Given the description of an element on the screen output the (x, y) to click on. 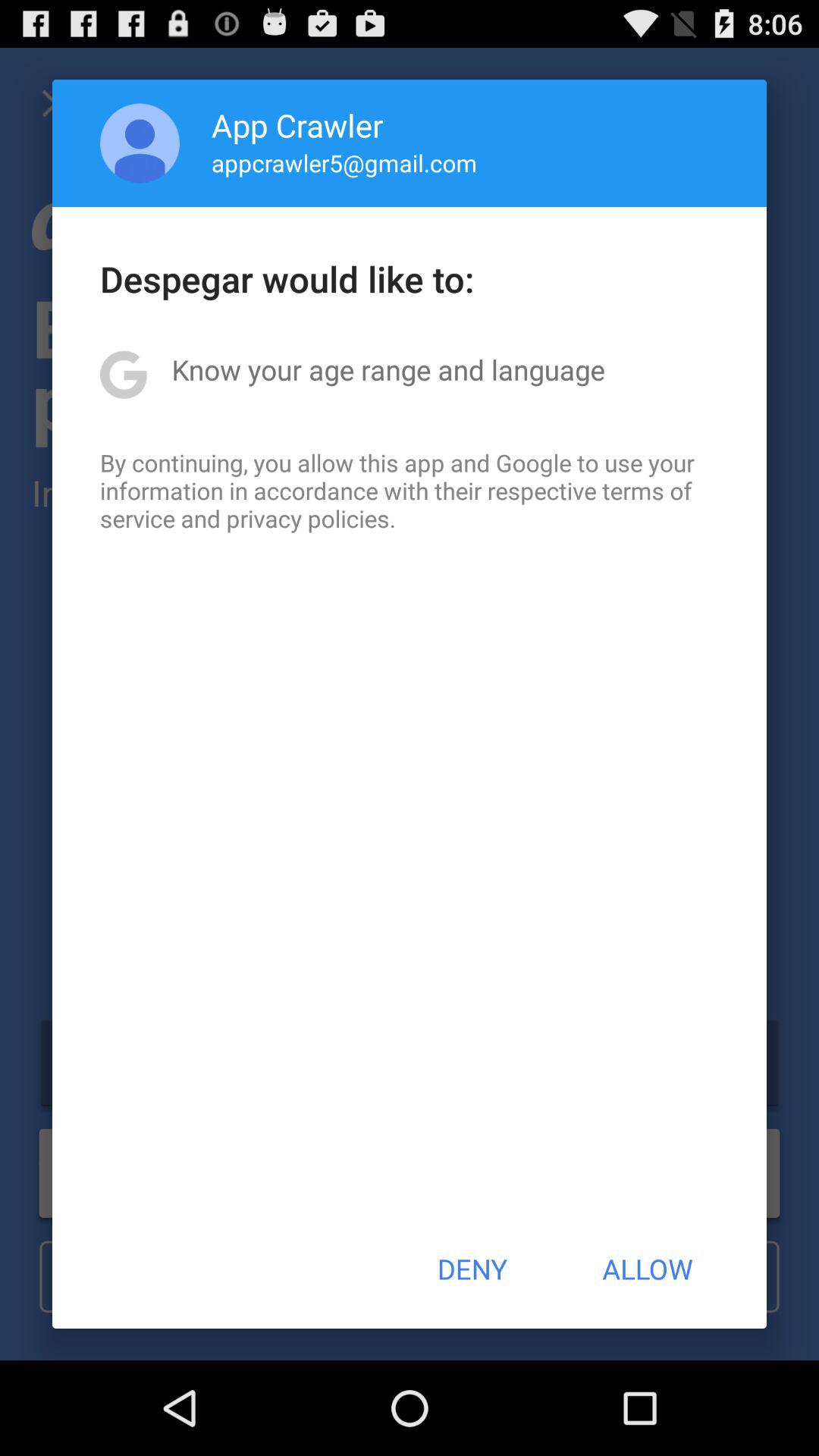
choose the item above by continuing you (388, 369)
